Given the description of an element on the screen output the (x, y) to click on. 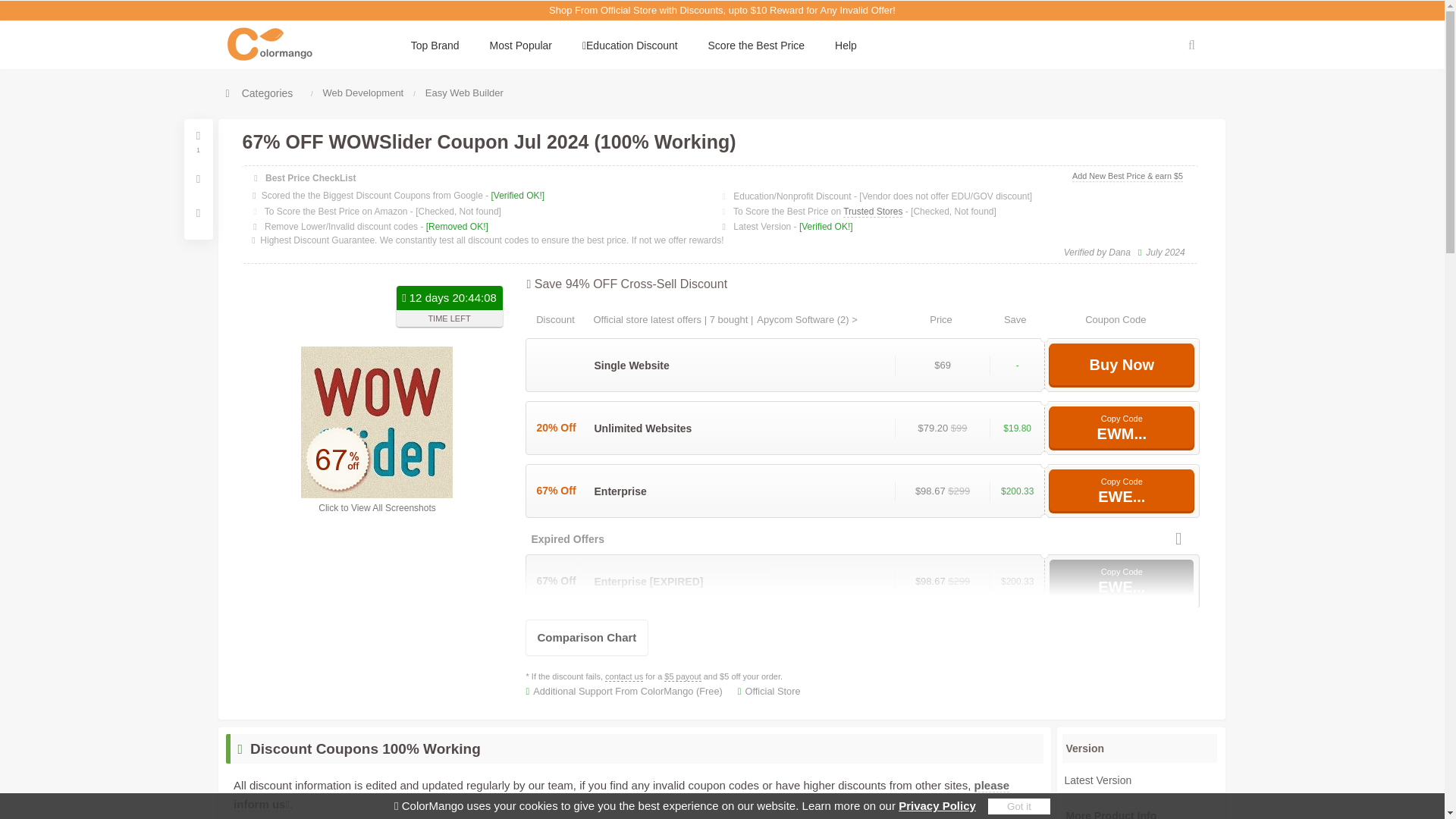
Full Product Directory (259, 92)
Score the Best Price (756, 45)
Most Popular (520, 45)
Got it (1018, 806)
Categories (259, 92)
Top Brand (435, 45)
Privacy Policy (936, 805)
